Given the description of an element on the screen output the (x, y) to click on. 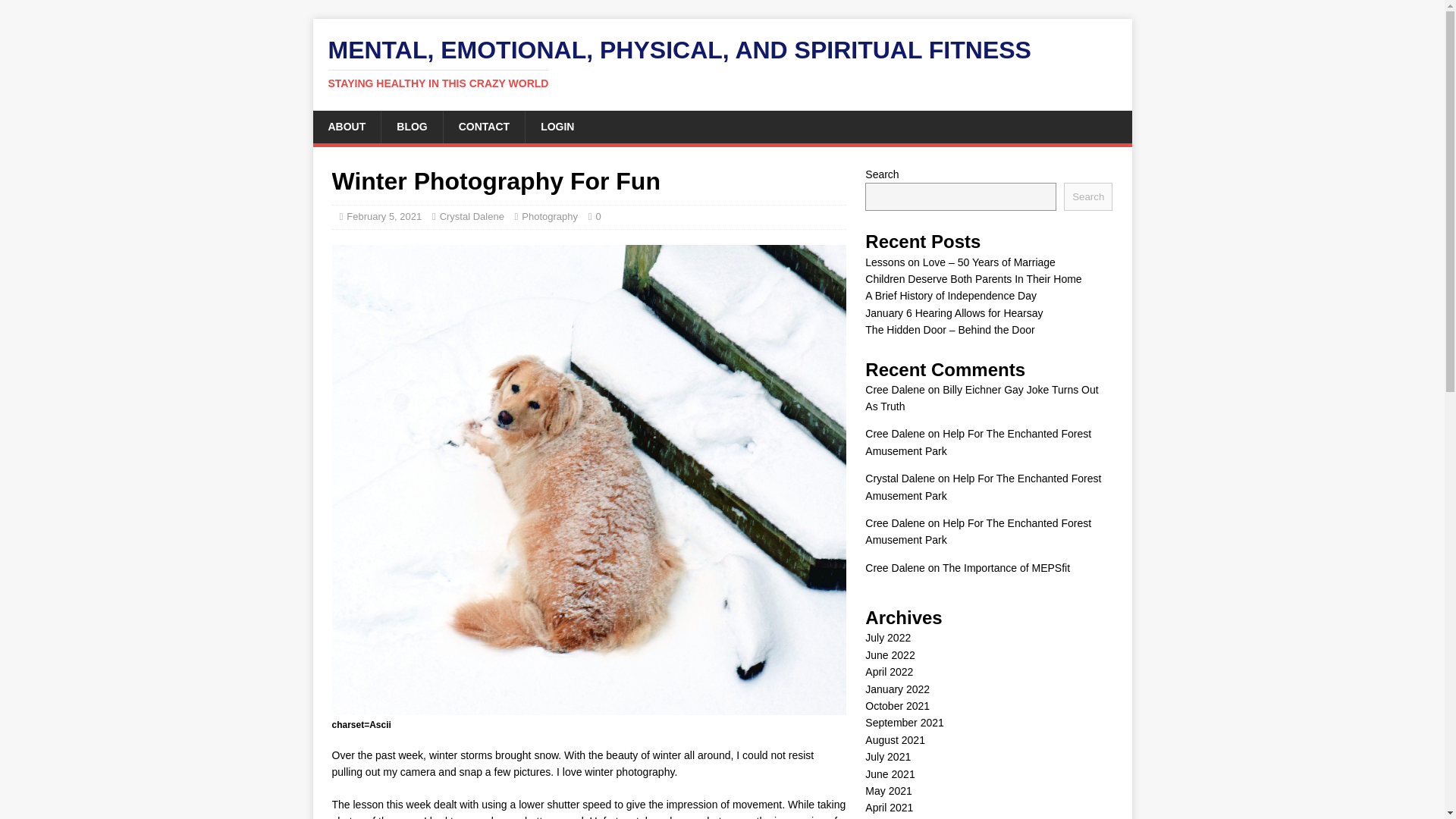
Cree Dalene (894, 433)
The Importance of MEPSfit (1006, 567)
Cree Dalene (894, 389)
Cree Dalene (894, 522)
September 2021 (903, 722)
October 2021 (897, 705)
Help For The Enchanted Forest Amusement Park (982, 486)
April 2022 (888, 671)
Crystal Dalene (899, 478)
January 2022 (897, 689)
Cree Dalene (894, 567)
August 2021 (894, 739)
A Brief History of Independence Day (950, 295)
BLOG (411, 126)
